Given the description of an element on the screen output the (x, y) to click on. 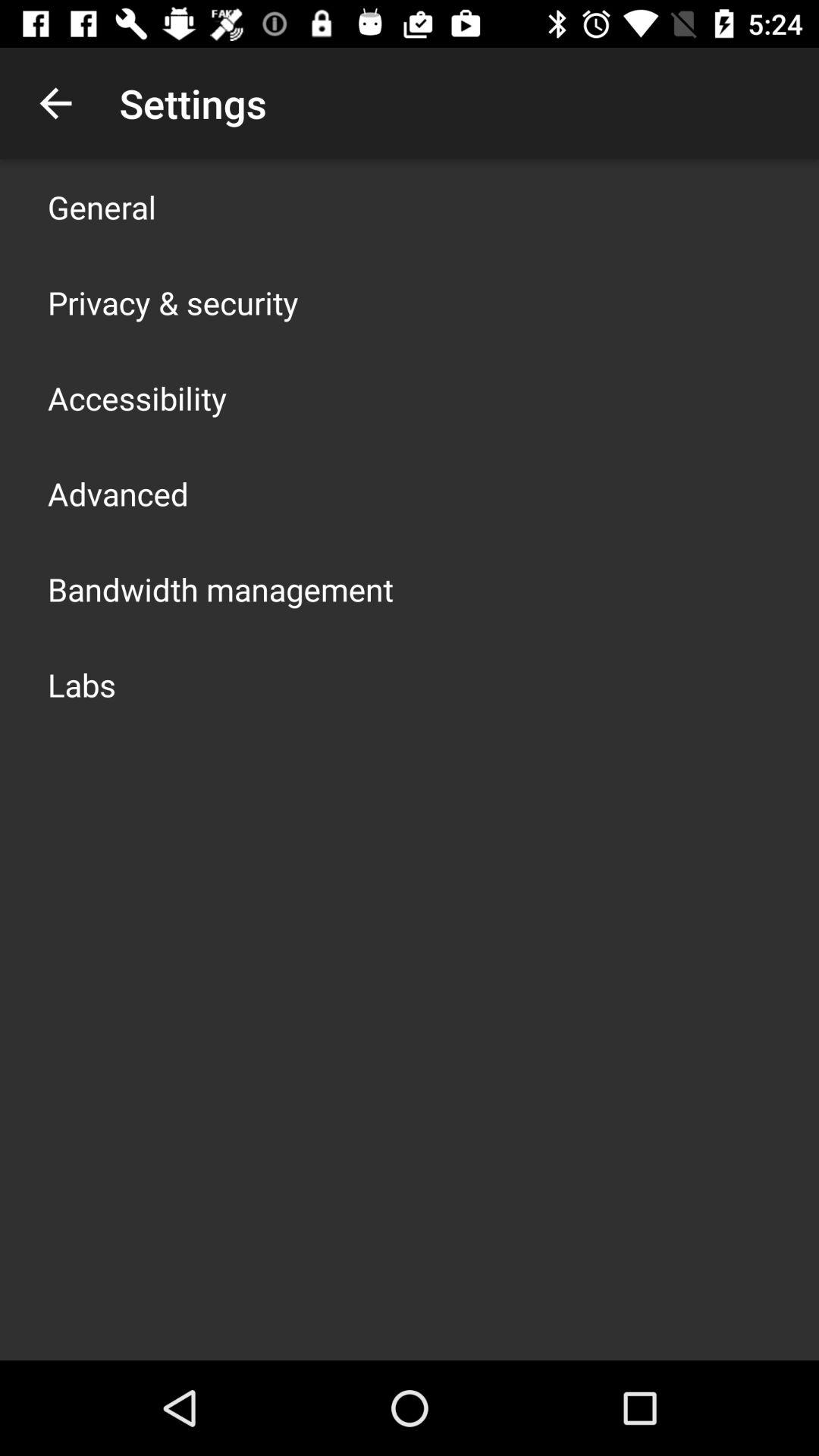
press the item above accessibility item (172, 302)
